Given the description of an element on the screen output the (x, y) to click on. 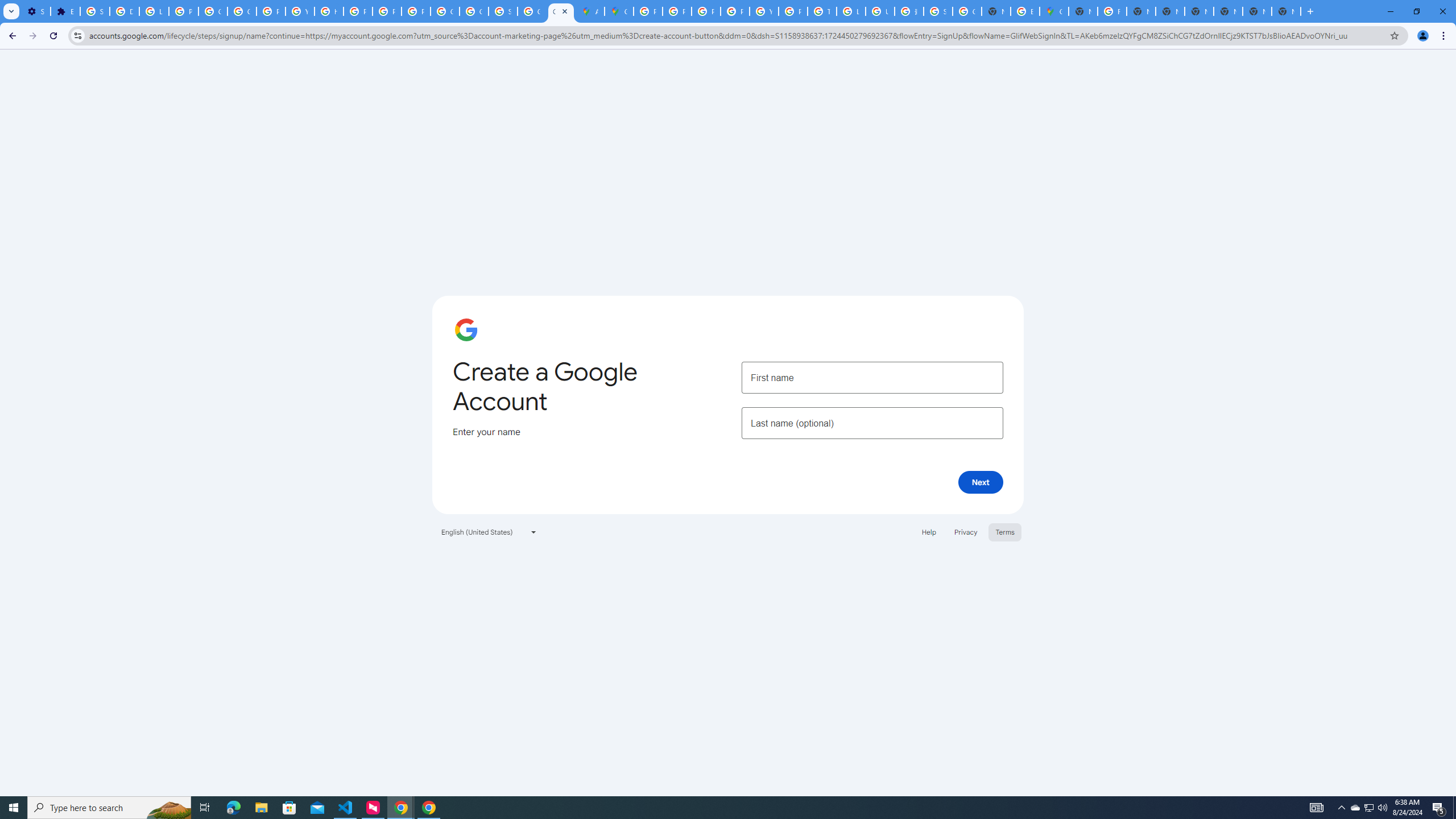
New Tab (1286, 11)
Settings - On startup (35, 11)
Last name (optional) (871, 422)
Create your Google Account (560, 11)
Address and search bar (735, 35)
Google Account Help (242, 11)
Bookmark this tab (1393, 35)
New Tab (1310, 11)
Extensions (65, 11)
New Tab (1227, 11)
Privacy (965, 531)
Reload (52, 35)
